Given the description of an element on the screen output the (x, y) to click on. 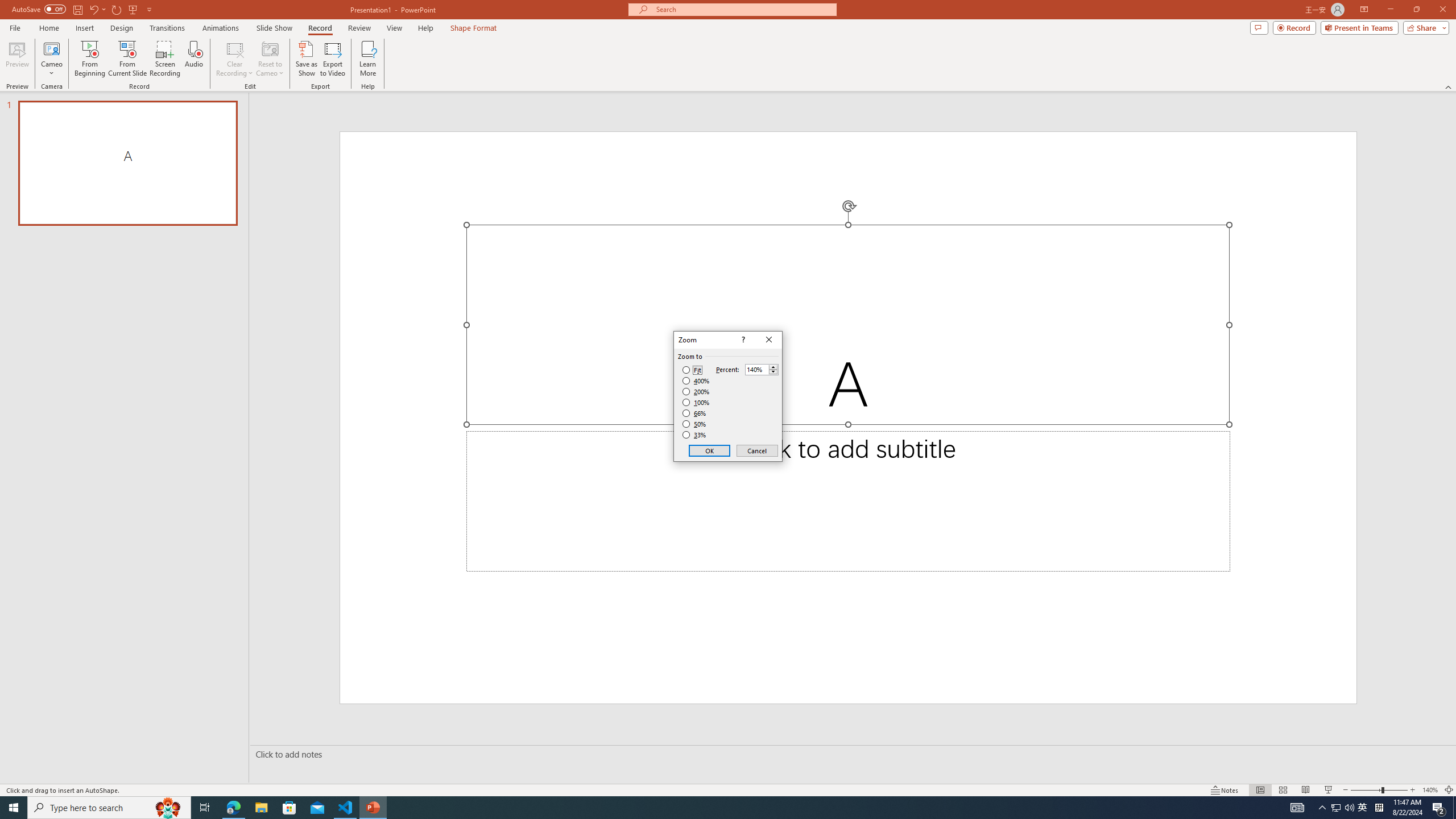
100% (696, 402)
Context help (742, 339)
Microsoft Edge - 1 running window (233, 807)
200% (696, 391)
Screen Recording (165, 58)
Zoom 140% (1430, 790)
